Given the description of an element on the screen output the (x, y) to click on. 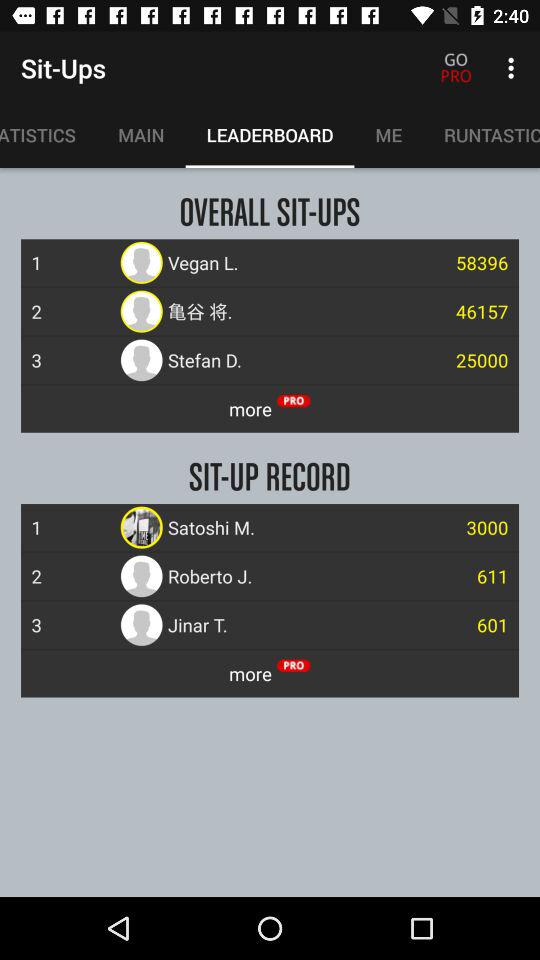
select the icon next to the runtastic apps icon (388, 135)
